Given the description of an element on the screen output the (x, y) to click on. 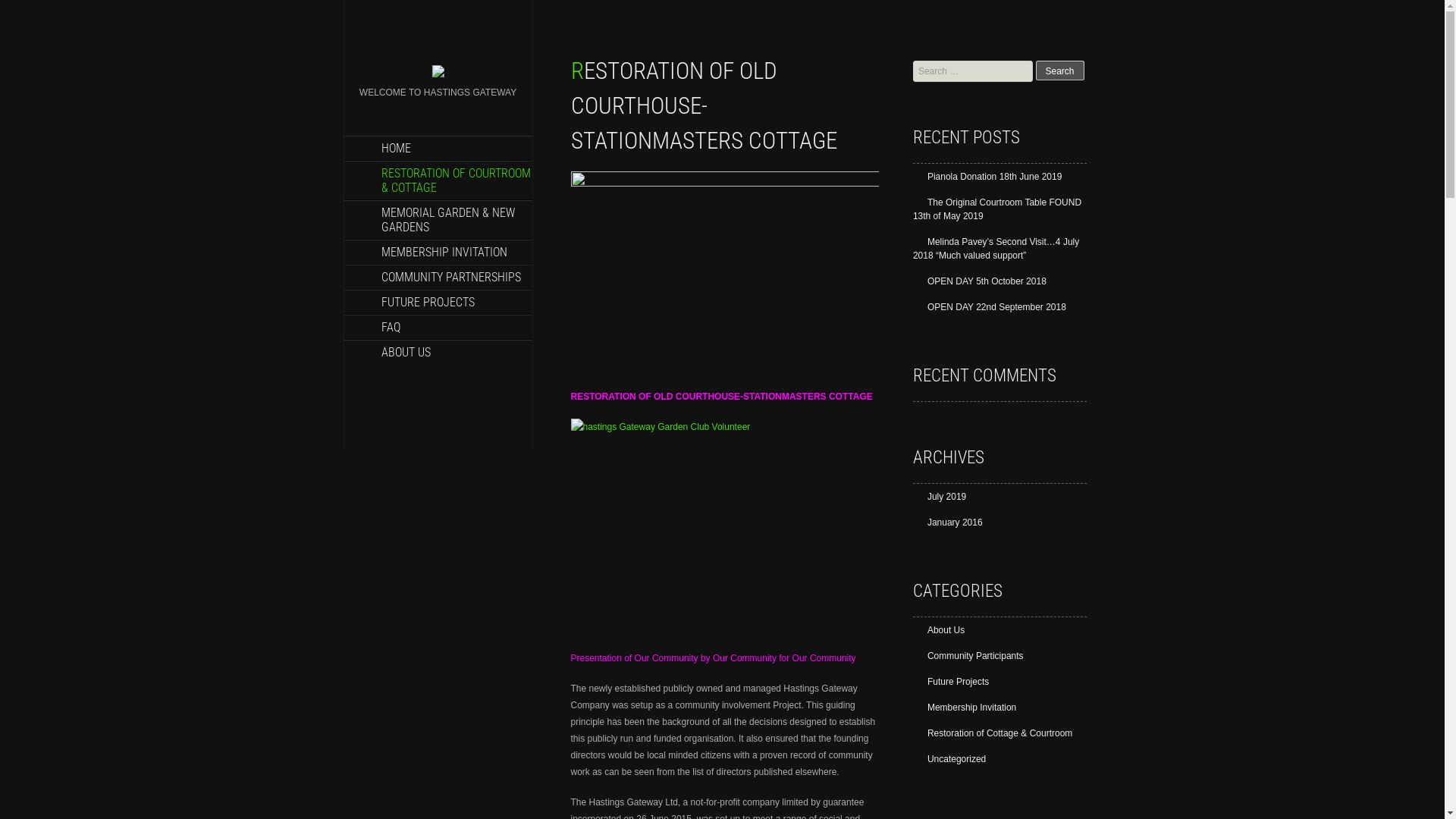
OPEN DAY 5th October 2018 Element type: text (979, 281)
COMMUNITY PARTNERSHIPS Element type: text (438, 276)
Future Projects Element type: text (950, 681)
The Original Courtroom Table FOUND 13th of May 2019 Element type: text (997, 209)
Restoration of Cottage & Courtroom Element type: text (992, 733)
OPEN DAY 22nd September 2018 Element type: text (989, 306)
MEMORIAL GARDEN & NEW GARDENS Element type: text (438, 219)
MEMBERSHIP INVITATION Element type: text (438, 251)
Pianola Donation 18th June 2019 Element type: text (987, 176)
HOME Element type: text (438, 148)
Search Element type: text (1059, 70)
FUTURE PROJECTS Element type: text (438, 301)
Community Participants Element type: text (968, 655)
About Us Element type: text (938, 629)
January 2016 Element type: text (947, 522)
RESTORATION OF COURTROOM & COTTAGE Element type: text (438, 180)
Uncategorized Element type: text (949, 758)
FAQ Element type: text (438, 326)
Membership Invitation Element type: text (964, 707)
July 2019 Element type: text (939, 496)
ABOUT US Element type: text (438, 352)
